Given the description of an element on the screen output the (x, y) to click on. 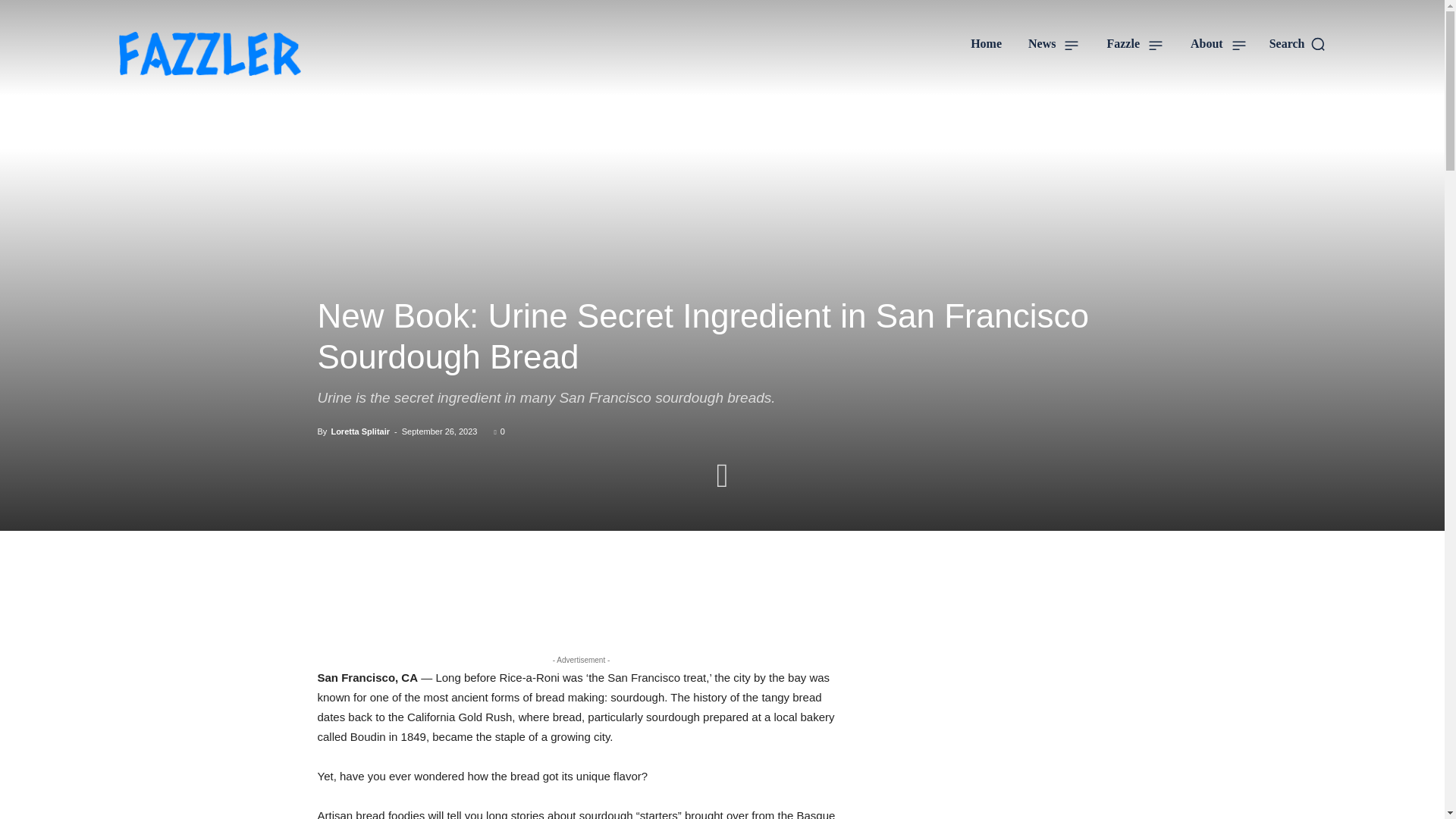
About (1218, 43)
Home (986, 43)
News (1054, 43)
Fazzle (1134, 43)
topFacebookLike (430, 575)
